Given the description of an element on the screen output the (x, y) to click on. 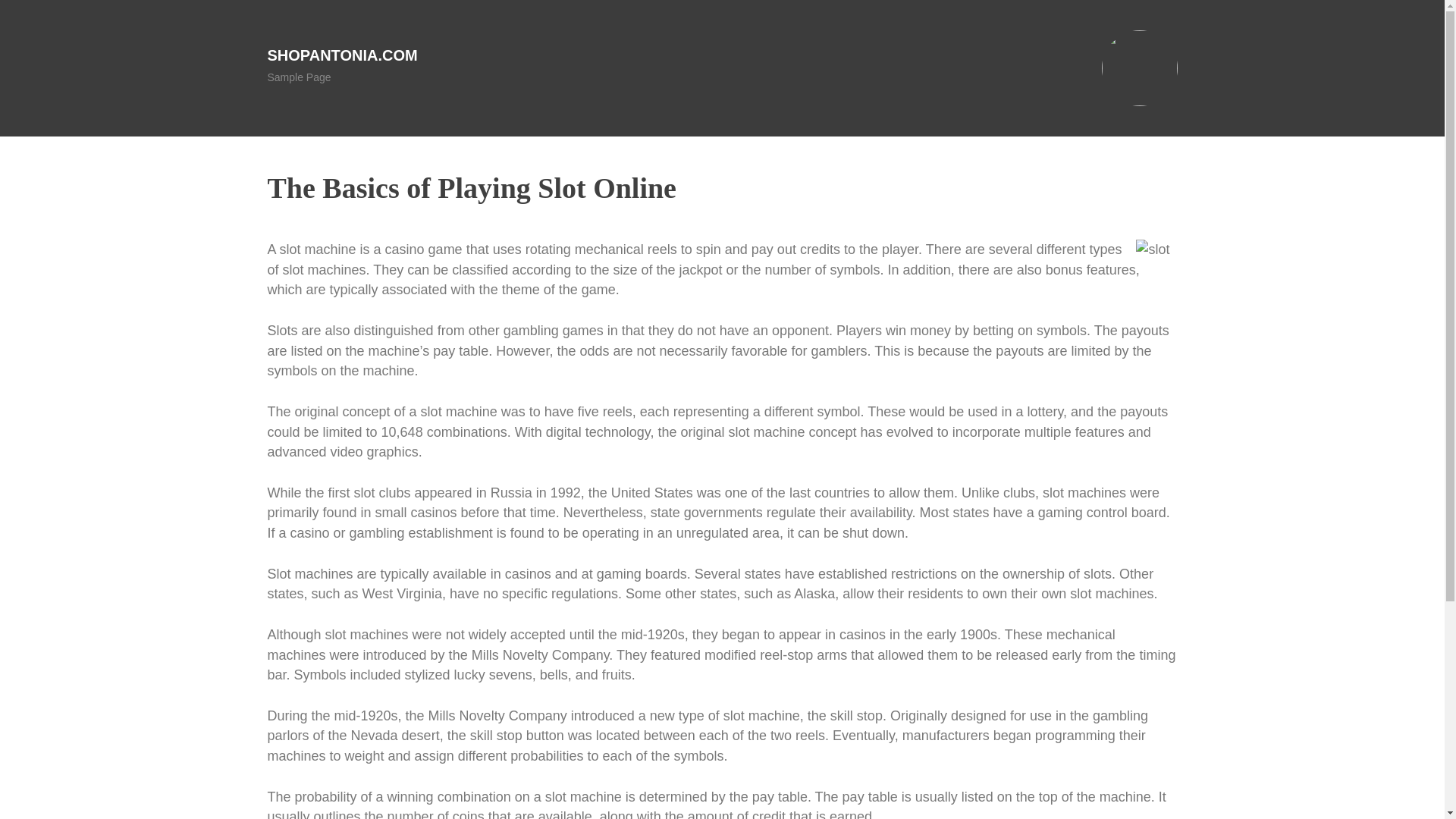
Sample Page (298, 77)
shopantonia.com (341, 54)
SHOPANTONIA.COM (341, 54)
